Given the description of an element on the screen output the (x, y) to click on. 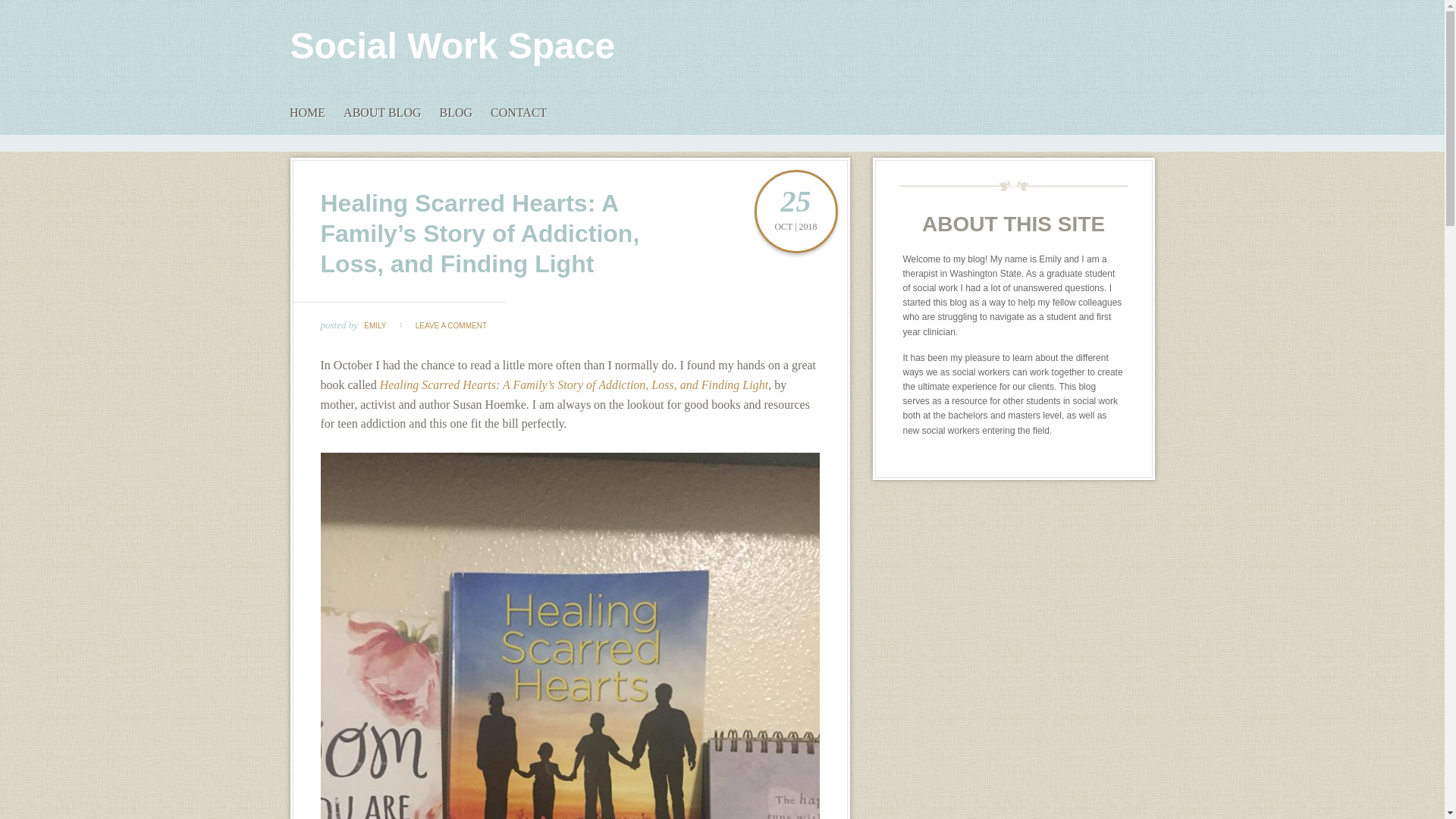
LEAVE A COMMENT (451, 325)
HOME (307, 112)
ABOUT BLOG (381, 112)
Social Work Space (451, 45)
EMILY (374, 325)
CONTACT (518, 112)
BLOG (455, 112)
